Given the description of an element on the screen output the (x, y) to click on. 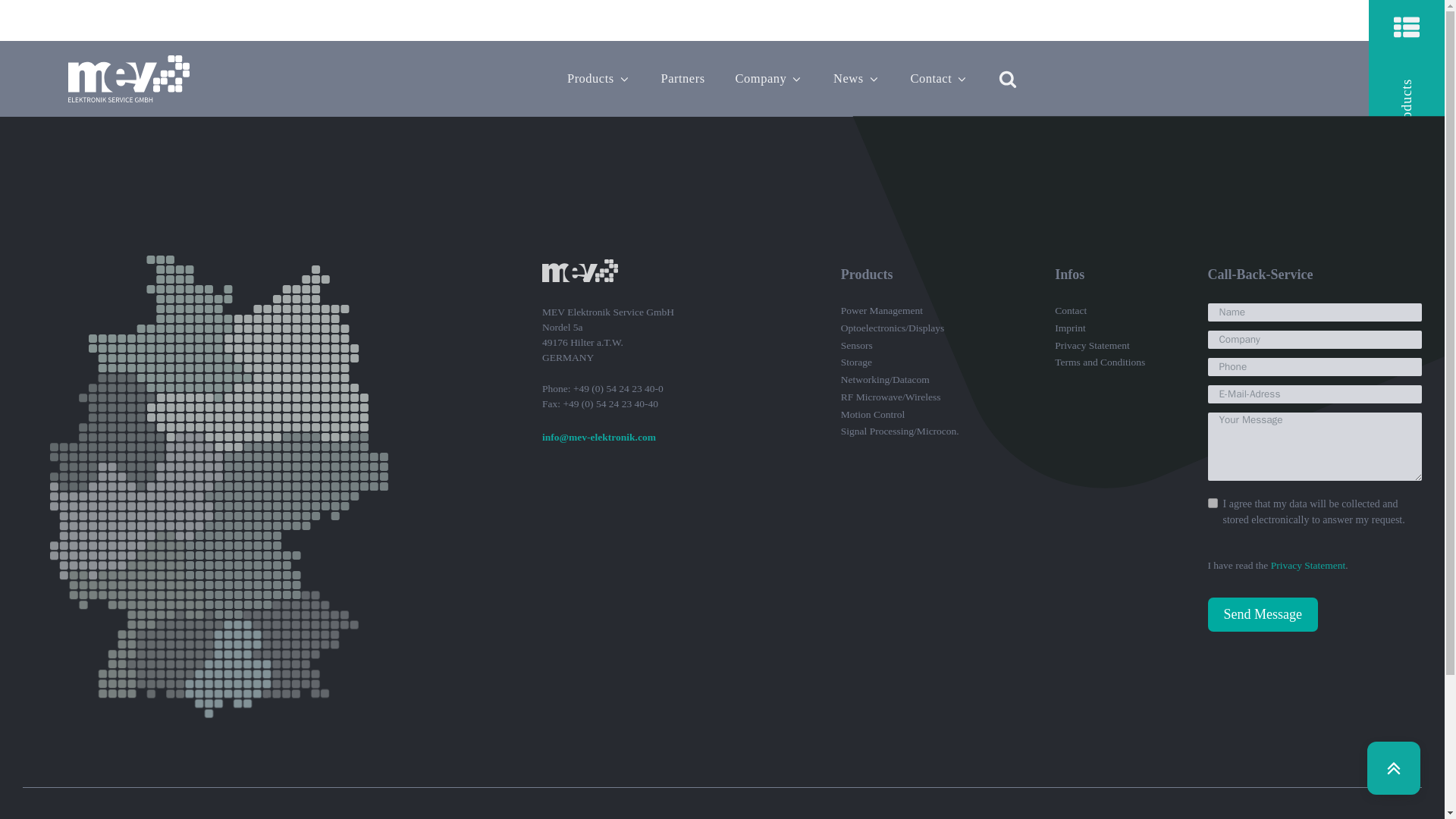
Privacy Statement (1308, 564)
News (856, 79)
Partners (683, 79)
Products (598, 79)
on (1212, 502)
Contact (939, 79)
Company (769, 79)
